Given the description of an element on the screen output the (x, y) to click on. 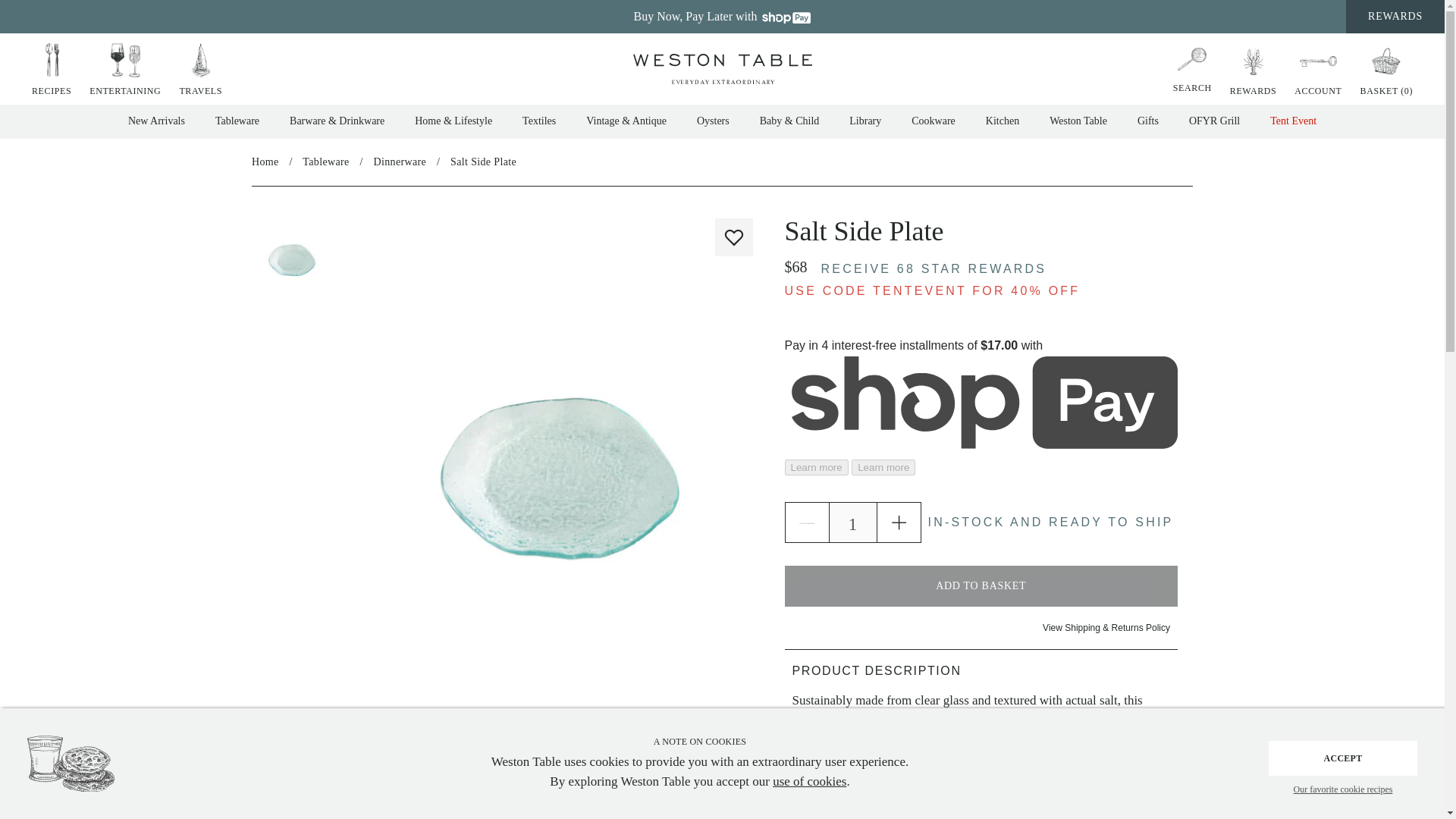
Our favorite cookie recipes (1342, 789)
ACCOUNT (1318, 70)
ENTERTAINING (125, 69)
TRAVELS (200, 69)
RECIPES (51, 69)
Rewards (1253, 70)
ACCEPT (1342, 758)
use of cookies (809, 780)
Gorgias live chat messenger (1380, 778)
REWARDS (1253, 70)
New Arrivals (156, 121)
SEARCH (1192, 66)
1 (852, 522)
Account (1318, 70)
